Given the description of an element on the screen output the (x, y) to click on. 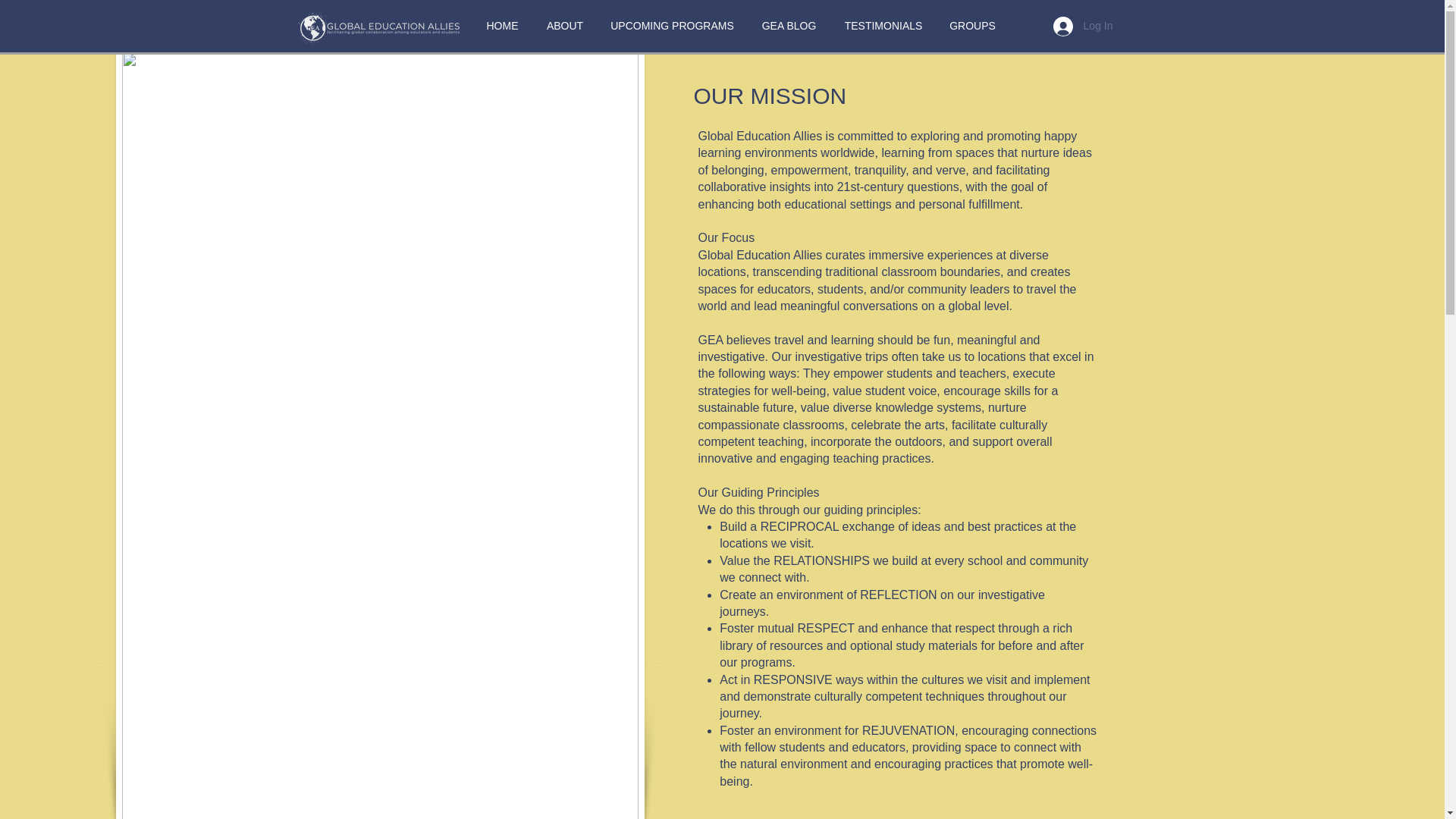
GEA BLOG (789, 25)
UPCOMING PROGRAMS (672, 25)
Log In (1083, 26)
TESTIMONIALS (883, 25)
GROUPS (972, 25)
HOME (501, 25)
